Given the description of an element on the screen output the (x, y) to click on. 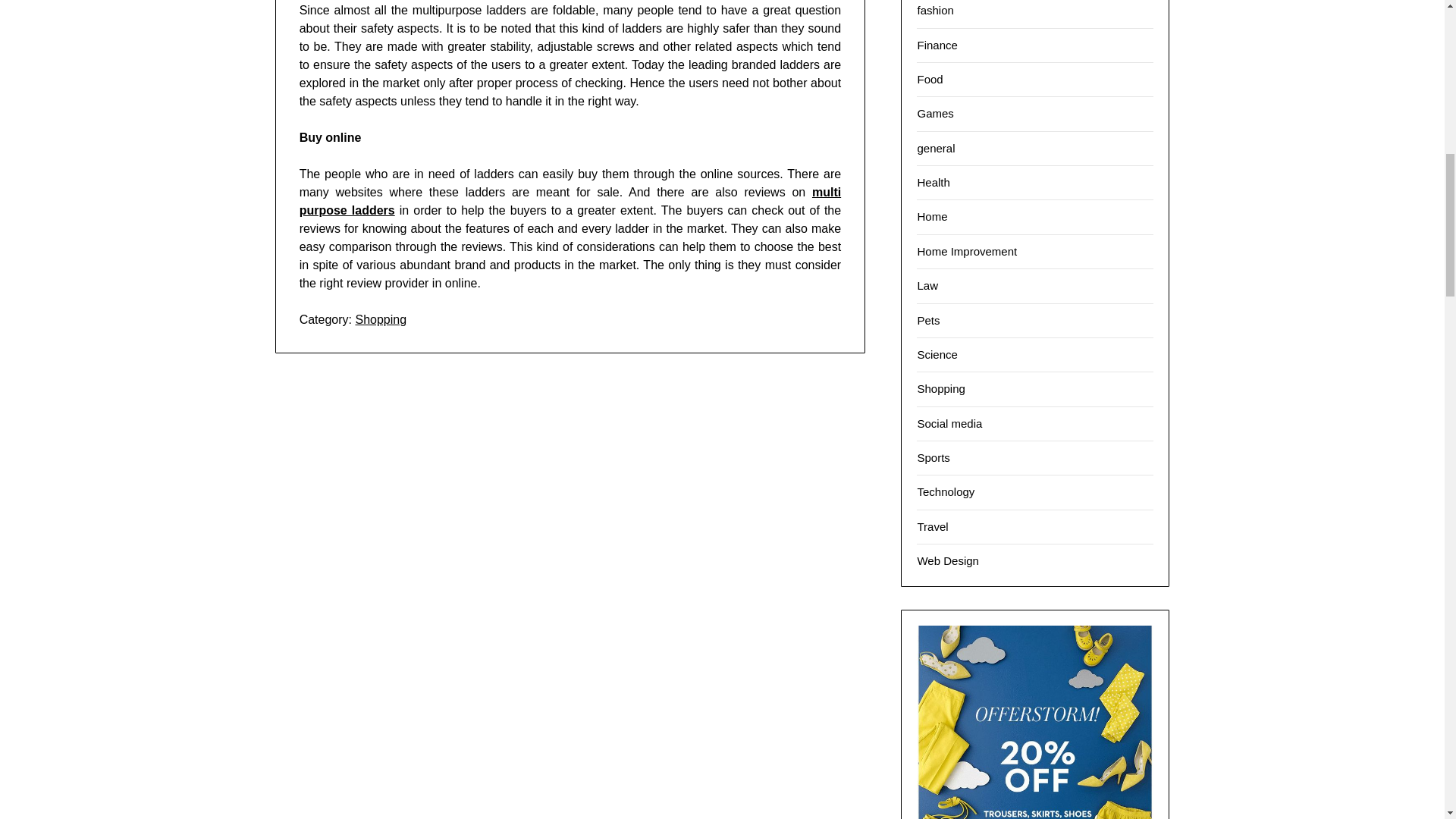
Home (932, 215)
Science (936, 354)
Health (933, 182)
Technology (945, 491)
Shopping (940, 388)
Shopping (380, 318)
Food (929, 78)
multi purpose ladders (570, 201)
fashion (935, 10)
Law (927, 285)
Social media (949, 422)
general (936, 147)
Home Improvement (966, 250)
Games (935, 113)
Pets (928, 319)
